Given the description of an element on the screen output the (x, y) to click on. 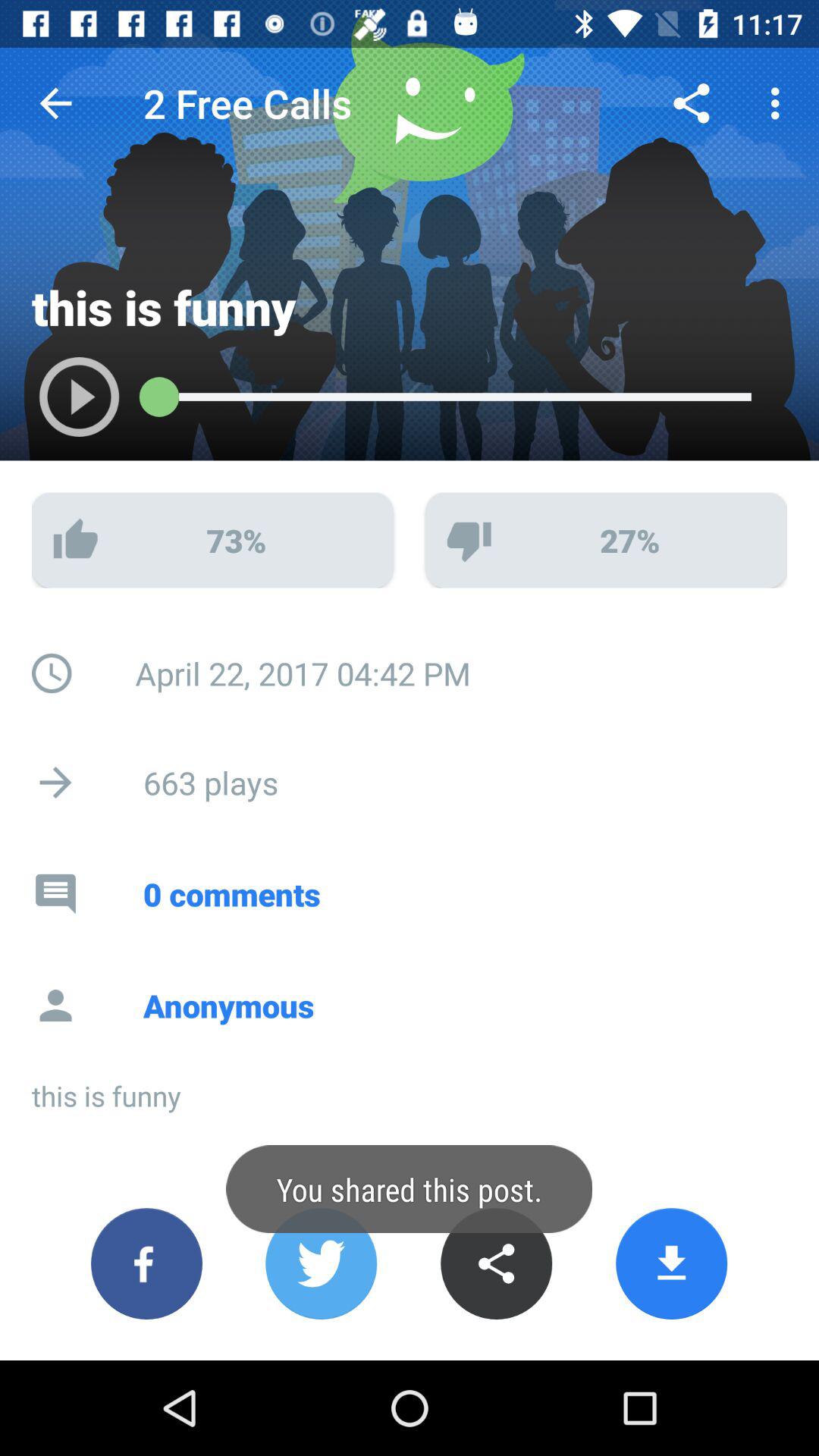
download button (671, 1263)
